Given the description of an element on the screen output the (x, y) to click on. 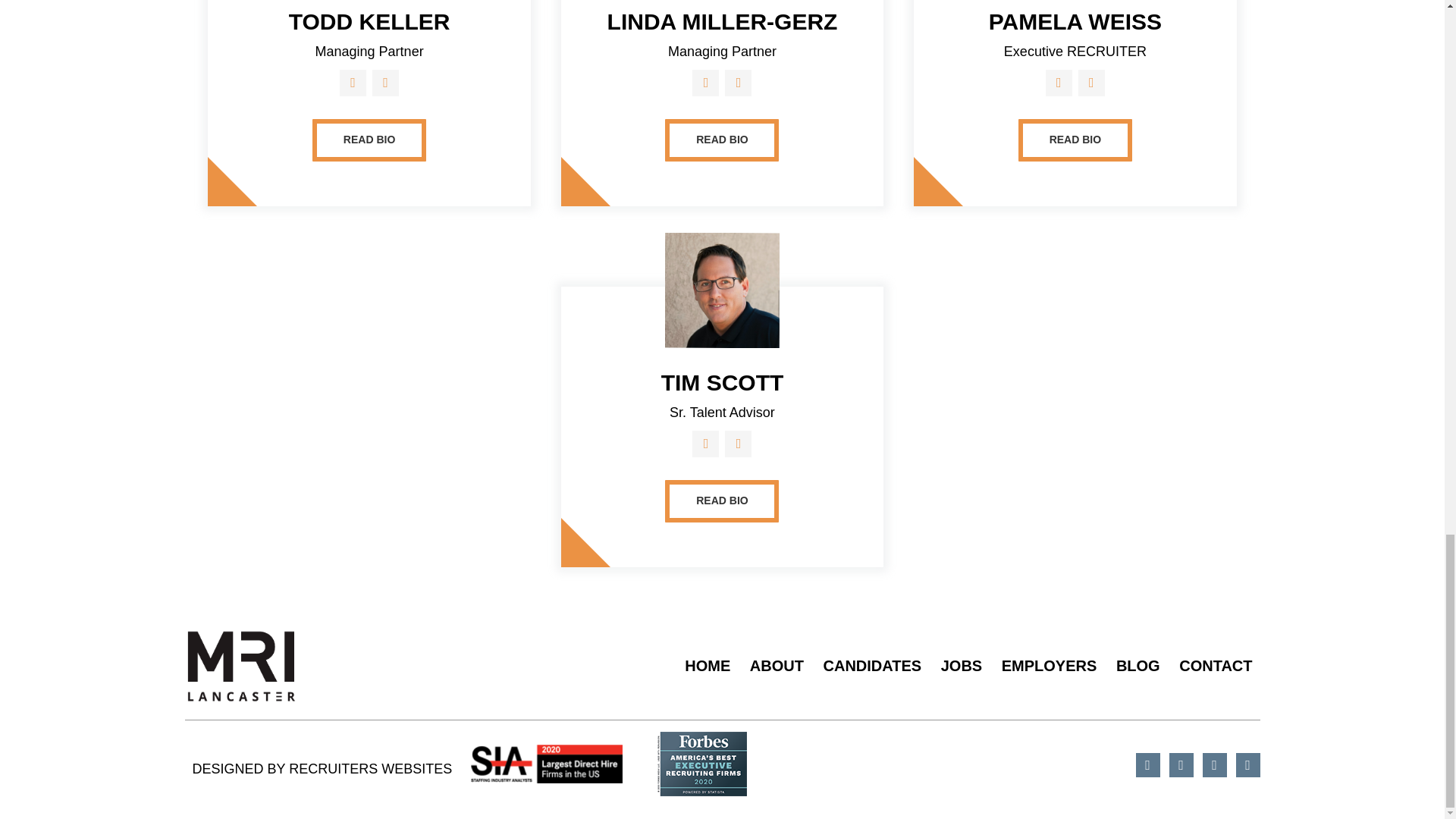
READ BIO (721, 500)
READ BIO (721, 139)
HOME (707, 665)
MRILancaster-K (241, 666)
READ BIO (1074, 139)
ABOUT (776, 665)
READ BIO (369, 139)
CANDIDATES (872, 665)
